Given the description of an element on the screen output the (x, y) to click on. 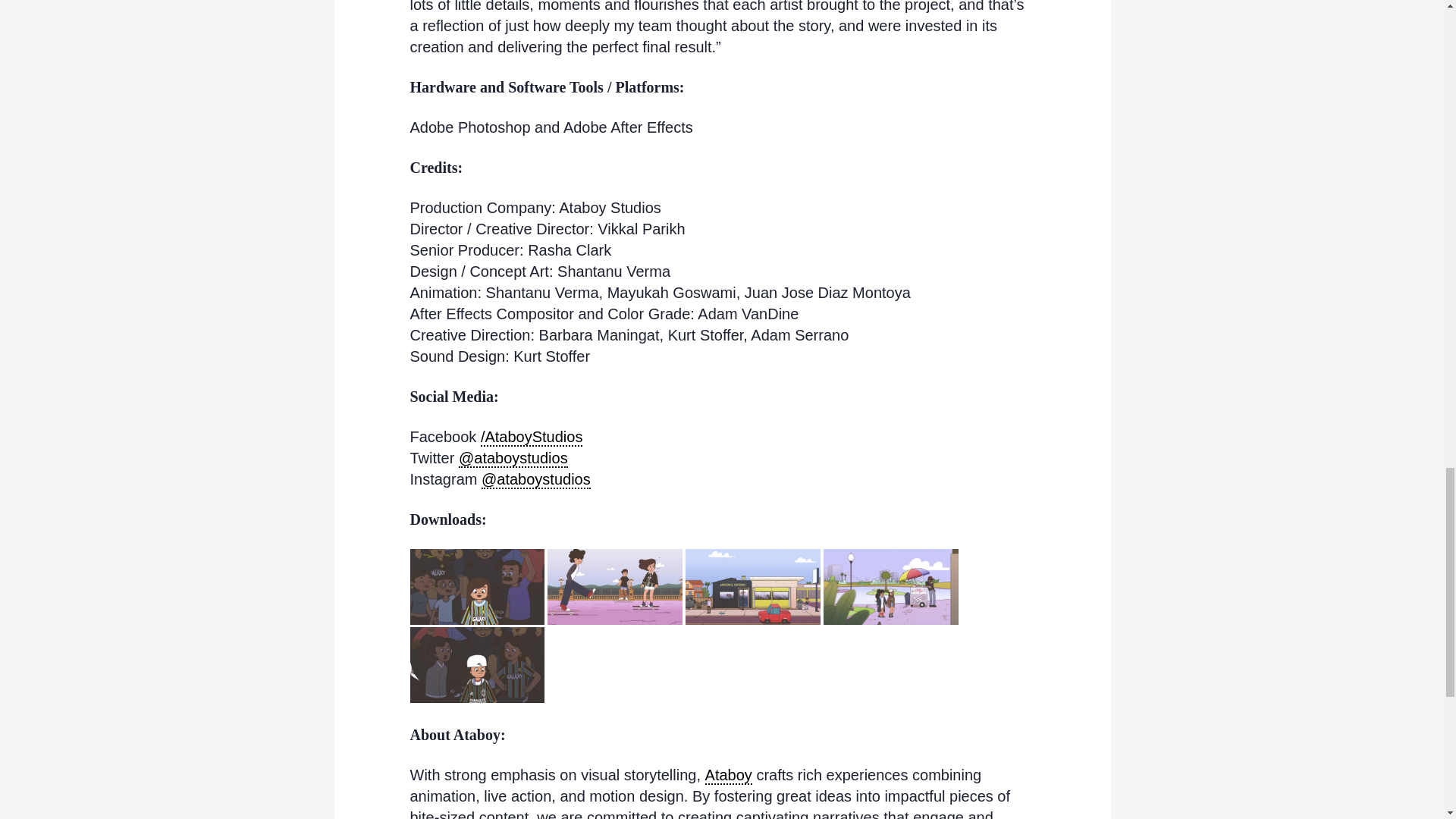
Download File (614, 586)
Download File (753, 586)
Download File (891, 586)
Ataboy (728, 775)
Download File (476, 664)
Download File (476, 586)
